Given the description of an element on the screen output the (x, y) to click on. 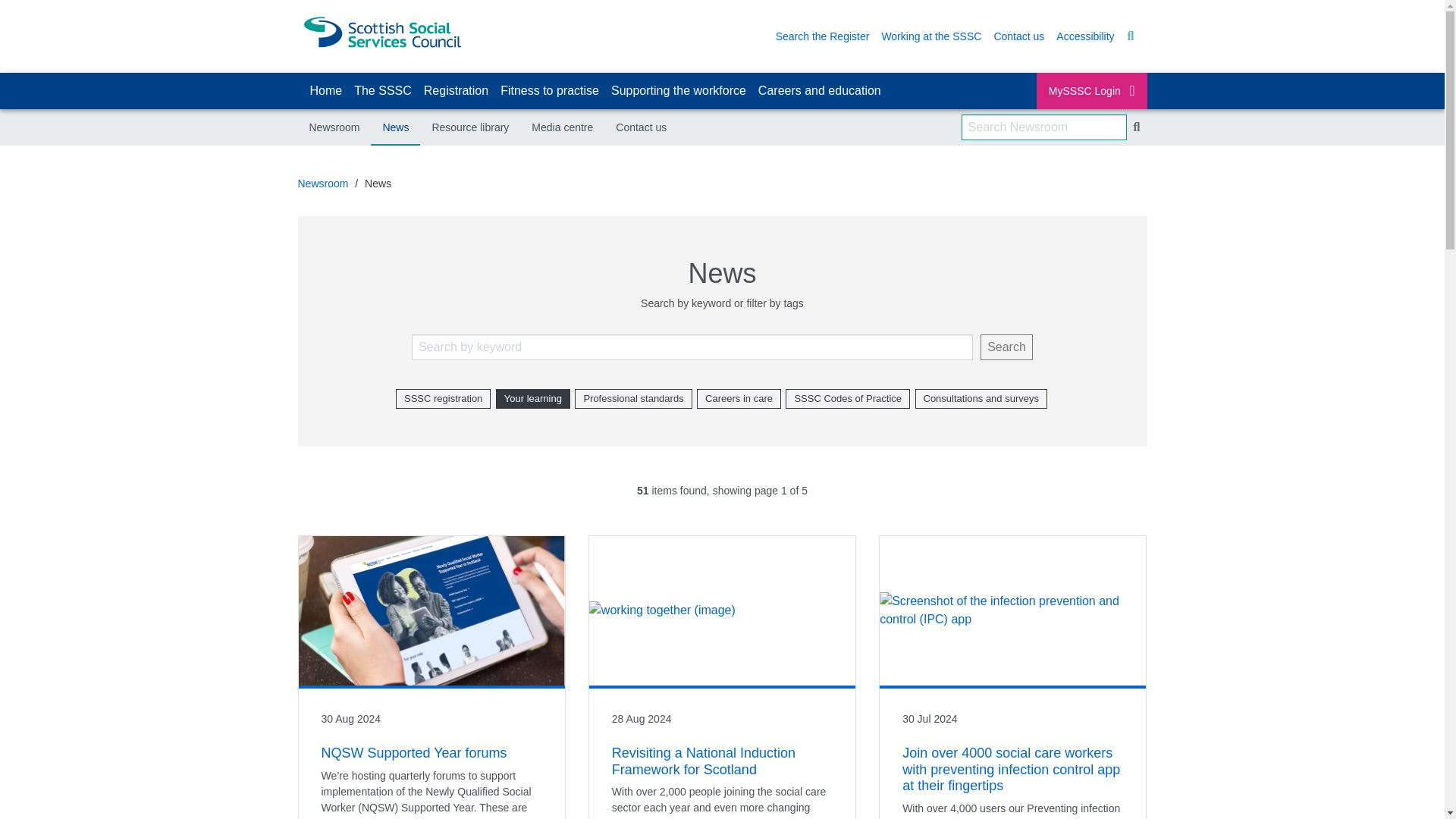
Home (324, 90)
The Scotish Social Services Council: Home (381, 30)
Fitness to practise (550, 90)
Accessibility (1084, 36)
Contact us (1018, 36)
Accessibility (1084, 36)
Search the Register (823, 36)
Home (324, 90)
The SSSC (382, 90)
Registration (456, 90)
